Given the description of an element on the screen output the (x, y) to click on. 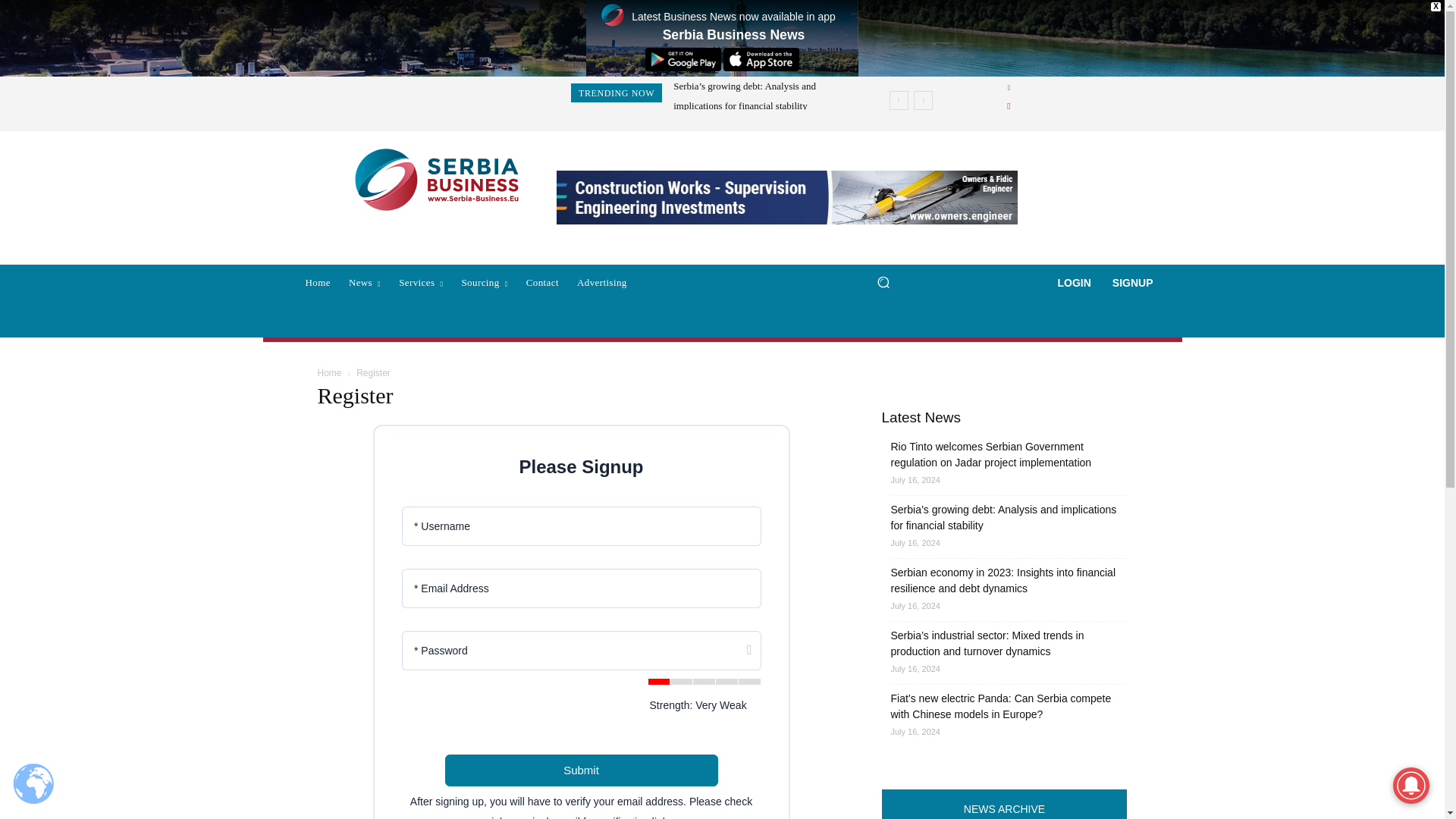
Twitter (1007, 106)
News (364, 282)
Services (420, 282)
Sourcing (483, 282)
Linkedin (1007, 87)
Home (317, 282)
Contact (541, 282)
